Given the description of an element on the screen output the (x, y) to click on. 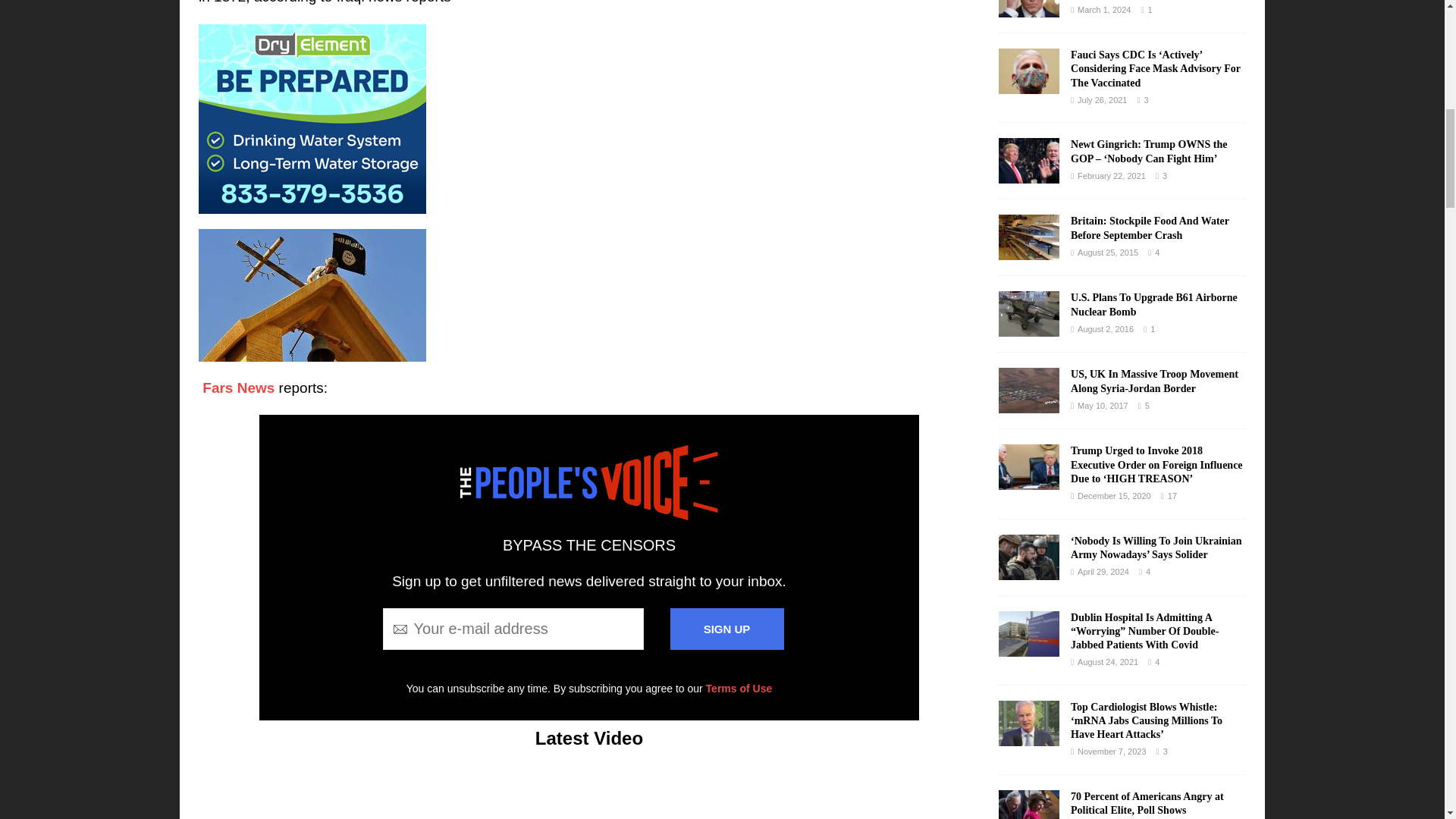
SIGN UP (726, 629)
